Given the description of an element on the screen output the (x, y) to click on. 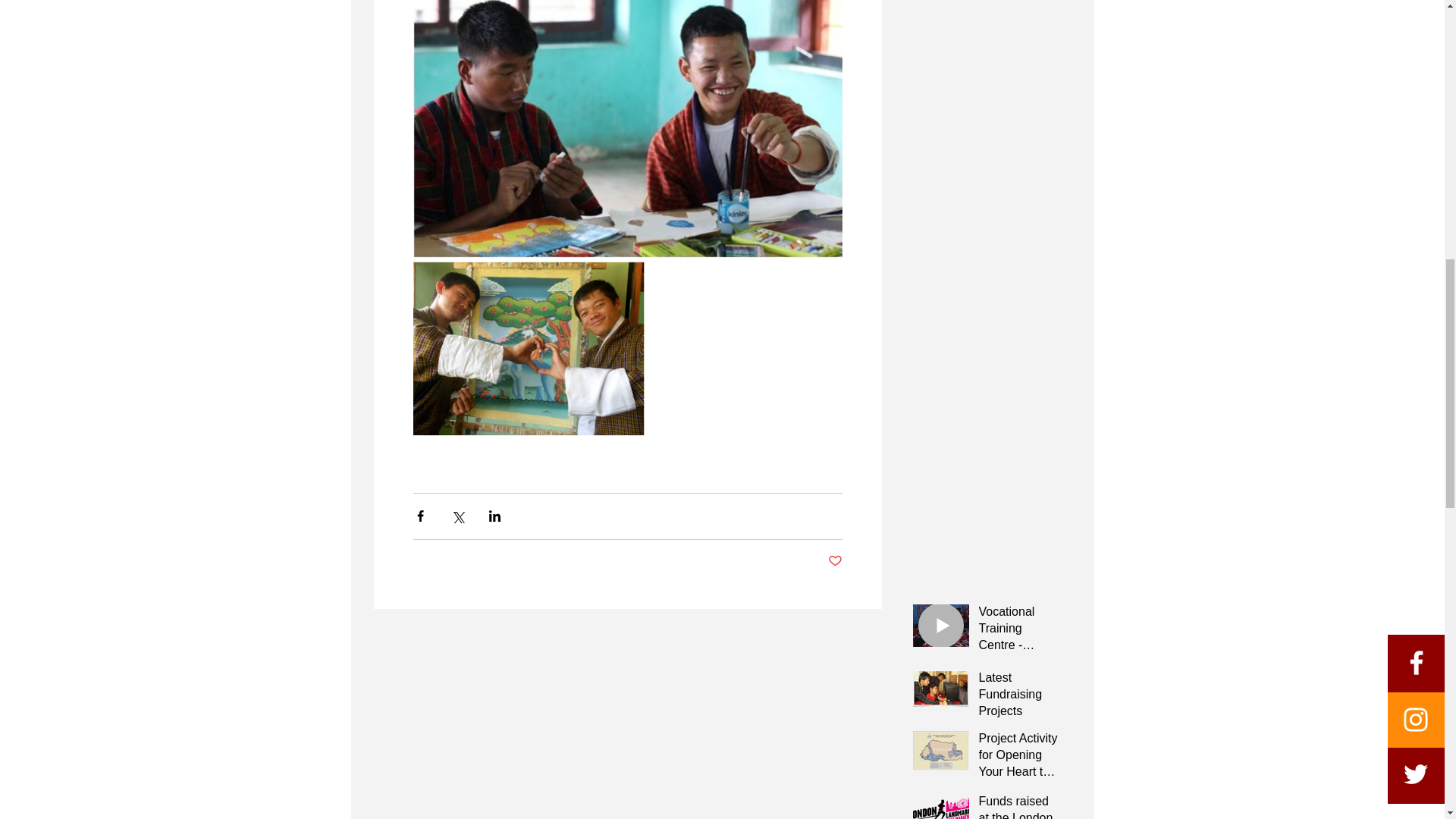
Latest Fundraising Projects (1018, 697)
Project Activity for Opening Your Heart to Bhutan (1018, 758)
Funds raised at the London Landmarks Half Marathon (1018, 806)
Vocational Training Centre - Inauguration (1018, 631)
Post not marked as liked (835, 561)
